Given the description of an element on the screen output the (x, y) to click on. 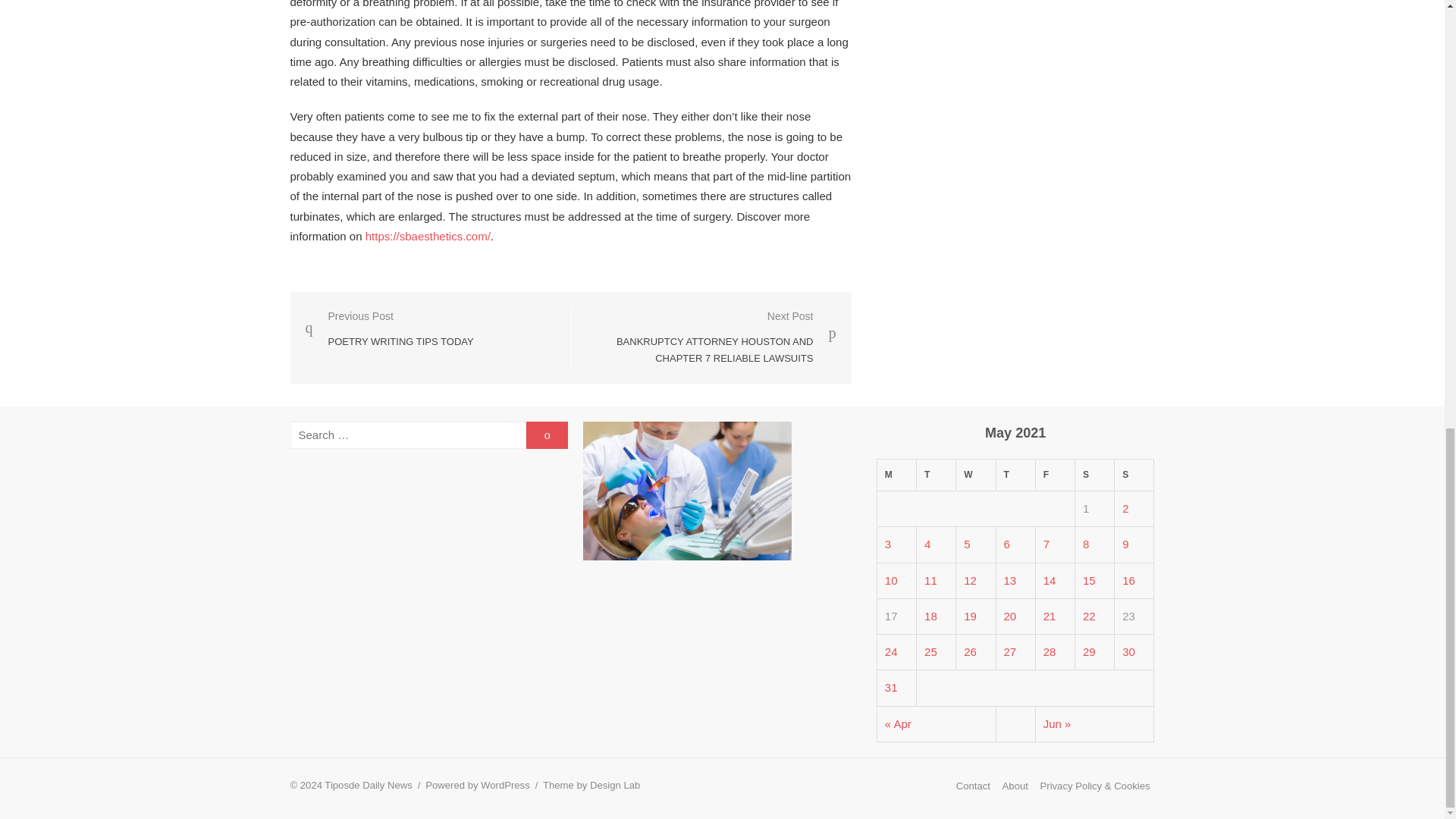
Sunday (1134, 475)
Friday (1054, 475)
Monday (388, 328)
Wednesday (895, 475)
Search (975, 475)
Tuesday (546, 434)
Thursday (936, 475)
Saturday (1015, 475)
